Given the description of an element on the screen output the (x, y) to click on. 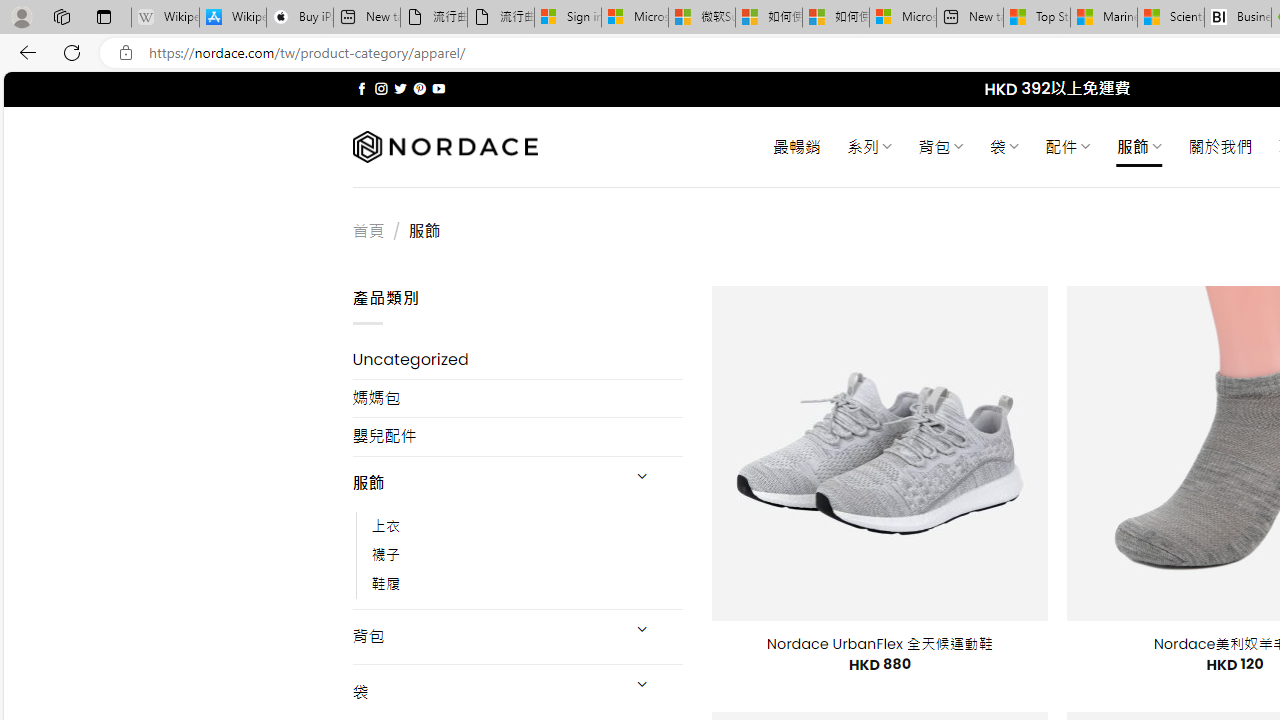
Follow on Twitter (400, 88)
Follow on YouTube (438, 88)
Marine life - MSN (1103, 17)
